Given the description of an element on the screen output the (x, y) to click on. 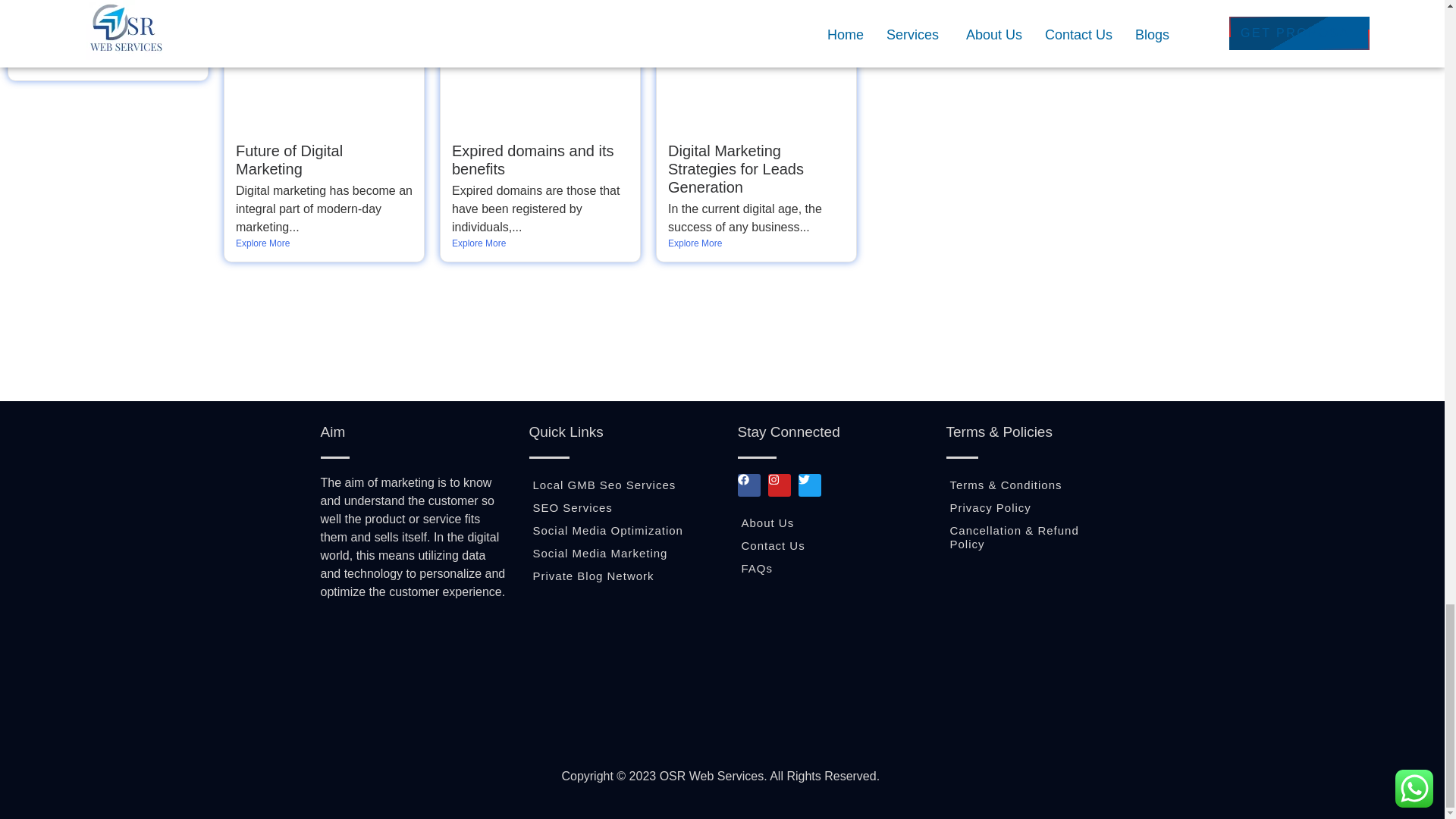
Explore More (323, 243)
Expired domains and its benefits (531, 159)
Digital Marketing Strategies for Leads Generation (735, 168)
Expired domains and its benefits (531, 159)
Social Media Marketing (629, 553)
About Us (833, 522)
Digital Marketing Strategies for Leads Generation (735, 168)
Explore More (539, 243)
Private Blog Network (629, 576)
Future of Digital Marketing (288, 159)
